Given the description of an element on the screen output the (x, y) to click on. 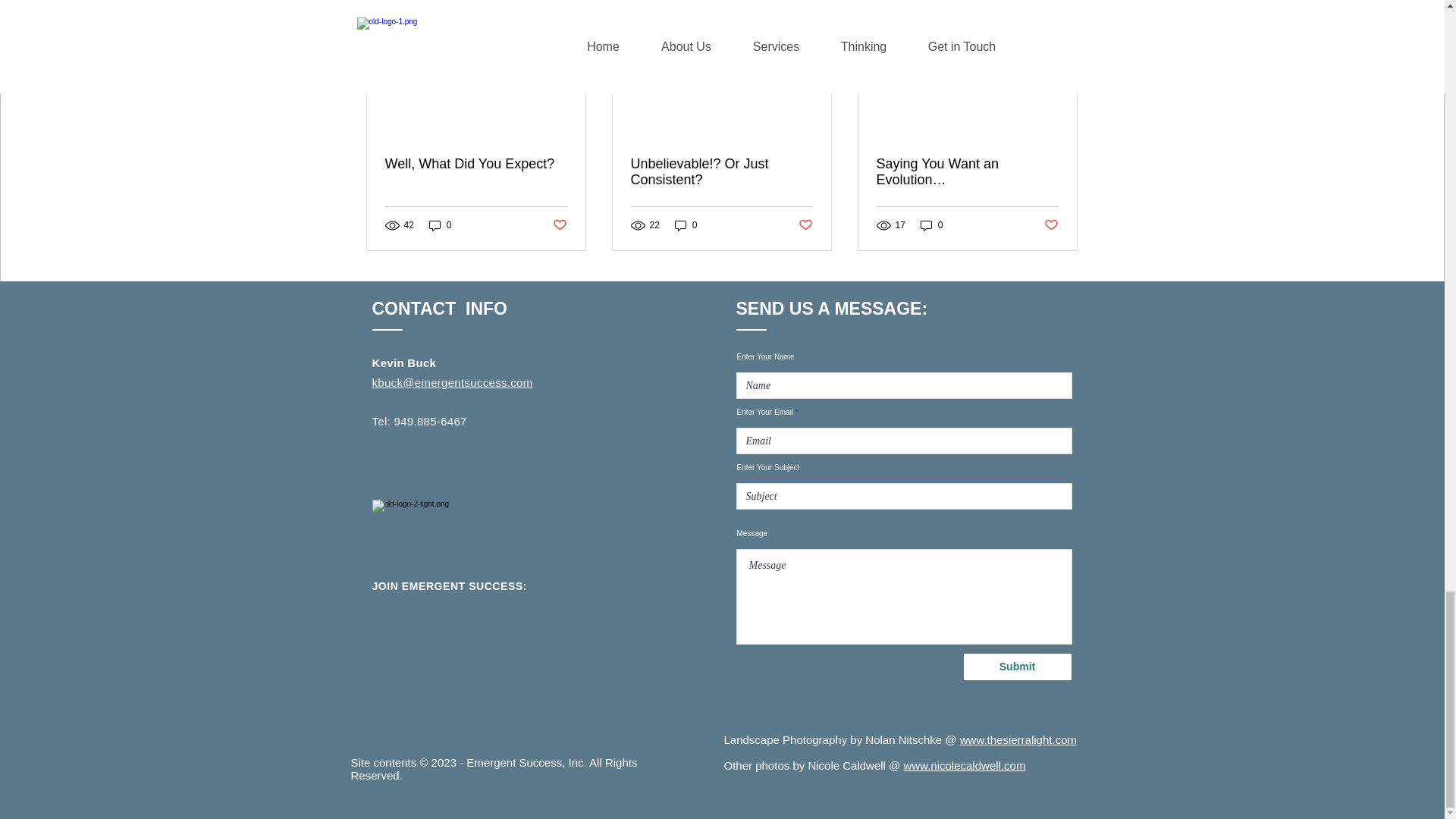
Post not marked as liked (804, 225)
0 (440, 224)
Unbelievable!? Or Just Consistent? (721, 172)
Post not marked as liked (1050, 225)
Submit (1016, 666)
0 (931, 224)
Well, What Did You Expect? (476, 163)
0 (685, 224)
Post not marked as liked (558, 225)
